Given the description of an element on the screen output the (x, y) to click on. 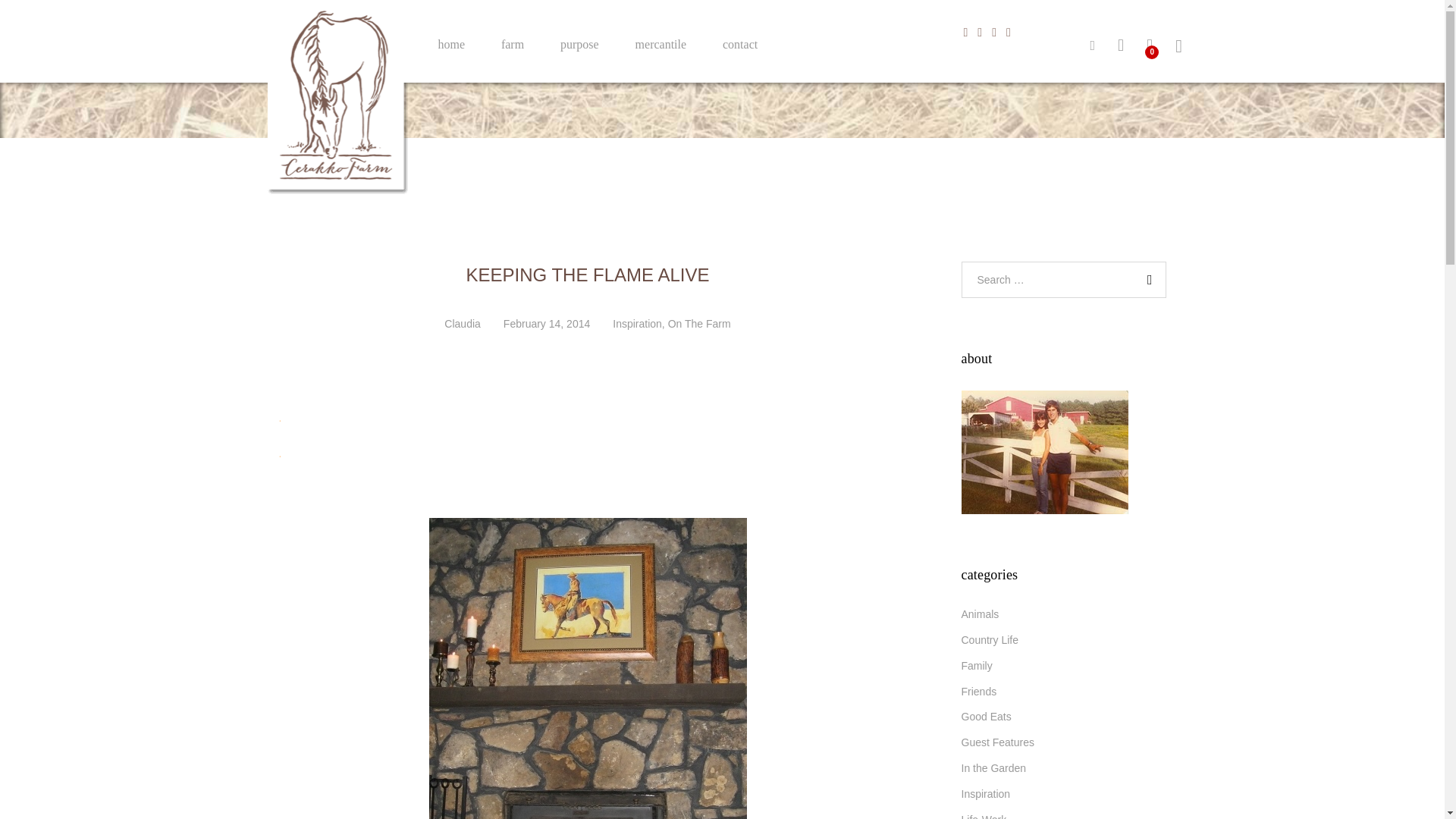
February 14, 2014 (546, 323)
mercantile (660, 44)
Search (1146, 279)
Claudia (462, 323)
purpose (579, 44)
Search (1146, 279)
home (451, 44)
On The Farm (699, 323)
farm (512, 44)
contact (739, 44)
